Given the description of an element on the screen output the (x, y) to click on. 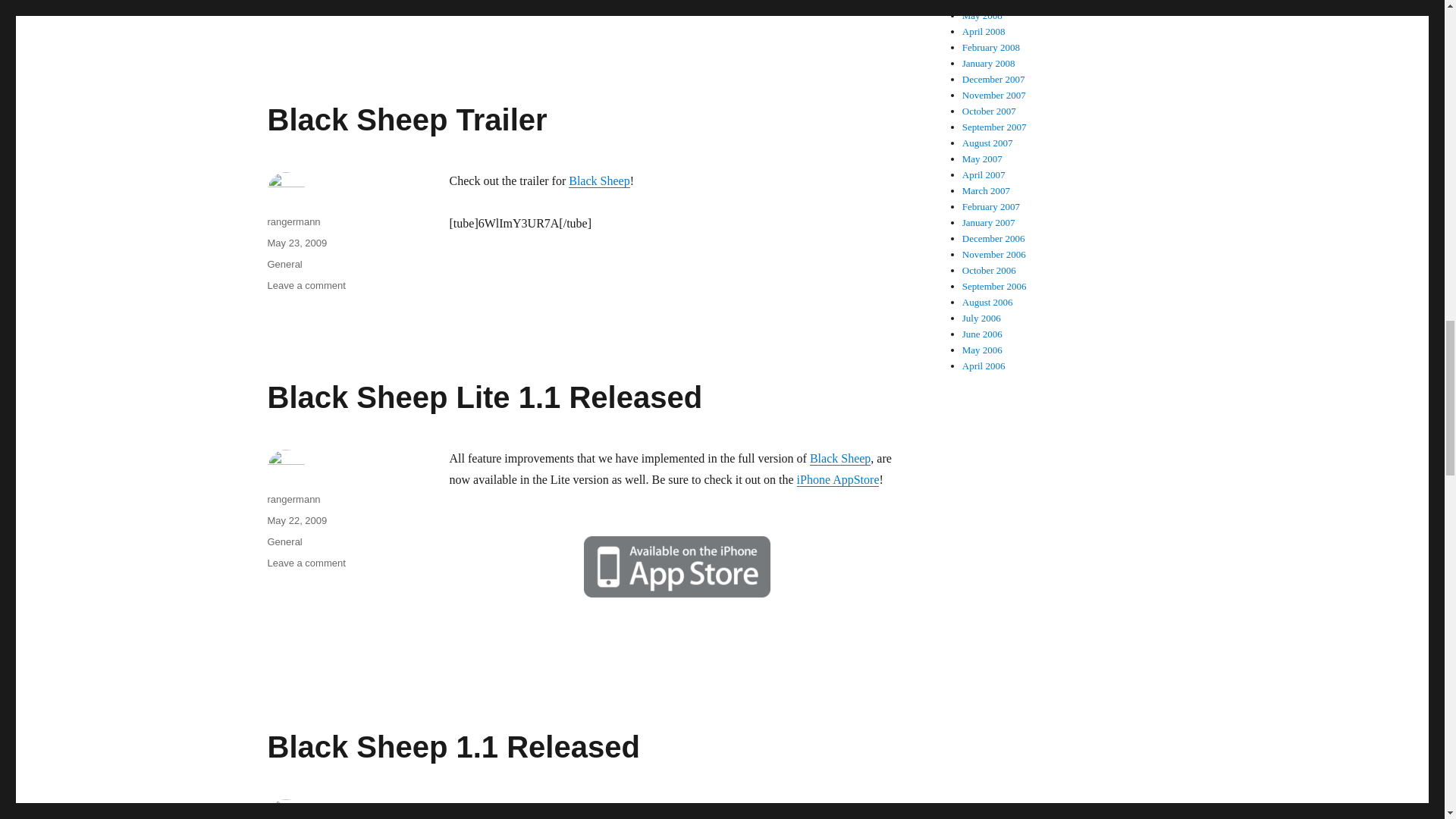
May 23, 2009 (296, 242)
rangermann (293, 221)
Black Sheep (305, 7)
Black Sheep Trailer (598, 180)
General (406, 119)
Black Sheep Lite 1.1 Released (305, 285)
